Given the description of an element on the screen output the (x, y) to click on. 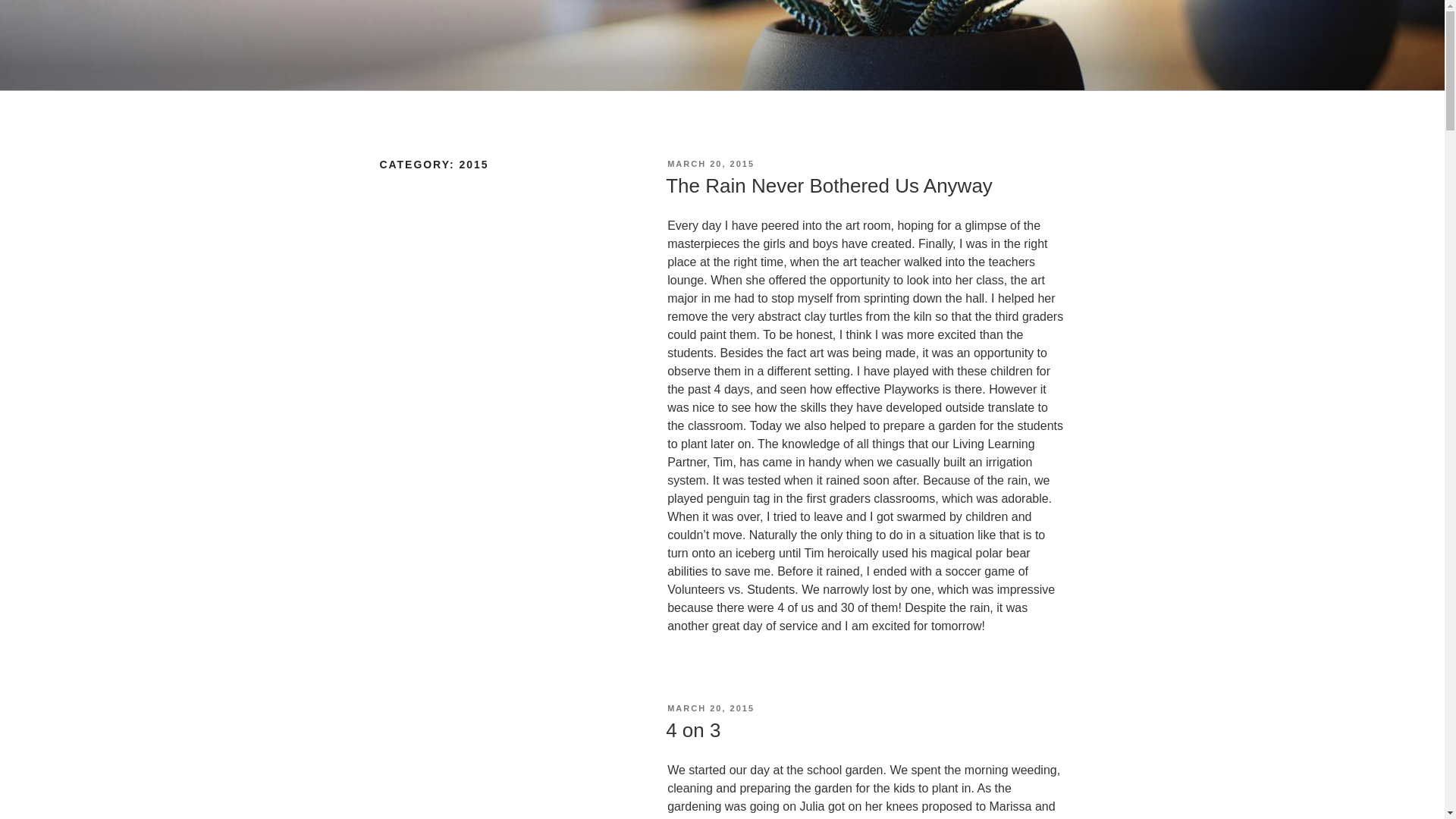
The Rain Never Bothered Us Anyway (828, 185)
MARCH 20, 2015 (710, 163)
4 on 3 (692, 730)
MARCH 20, 2015 (710, 707)
